Given the description of an element on the screen output the (x, y) to click on. 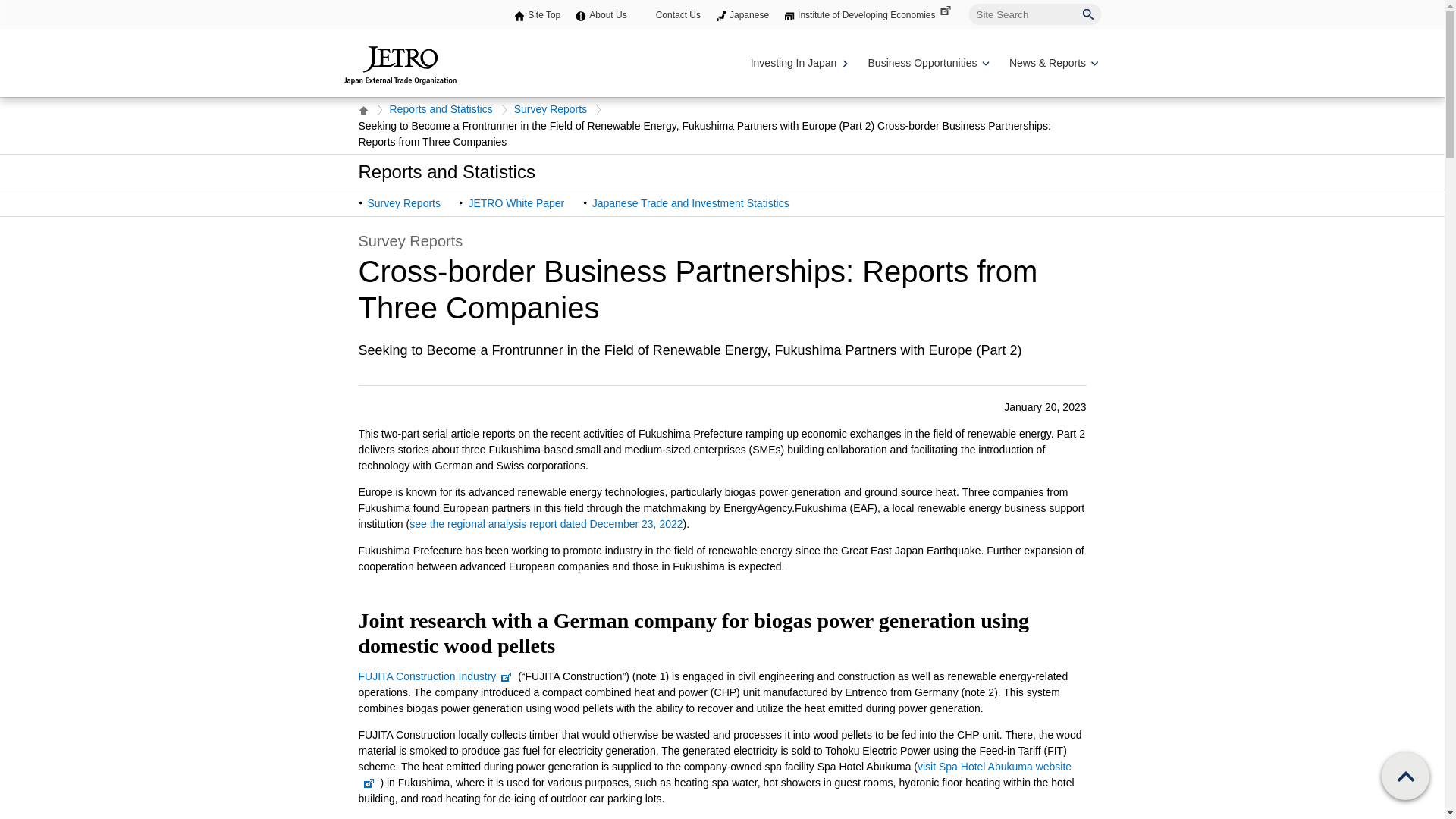
Institute of Developing Economies (875, 14)
Site Top (543, 14)
Japanese (748, 14)
About Us (607, 14)
Contact Us (678, 14)
Business Opportunities (927, 63)
Investing In Japan (798, 63)
